Given the description of an element on the screen output the (x, y) to click on. 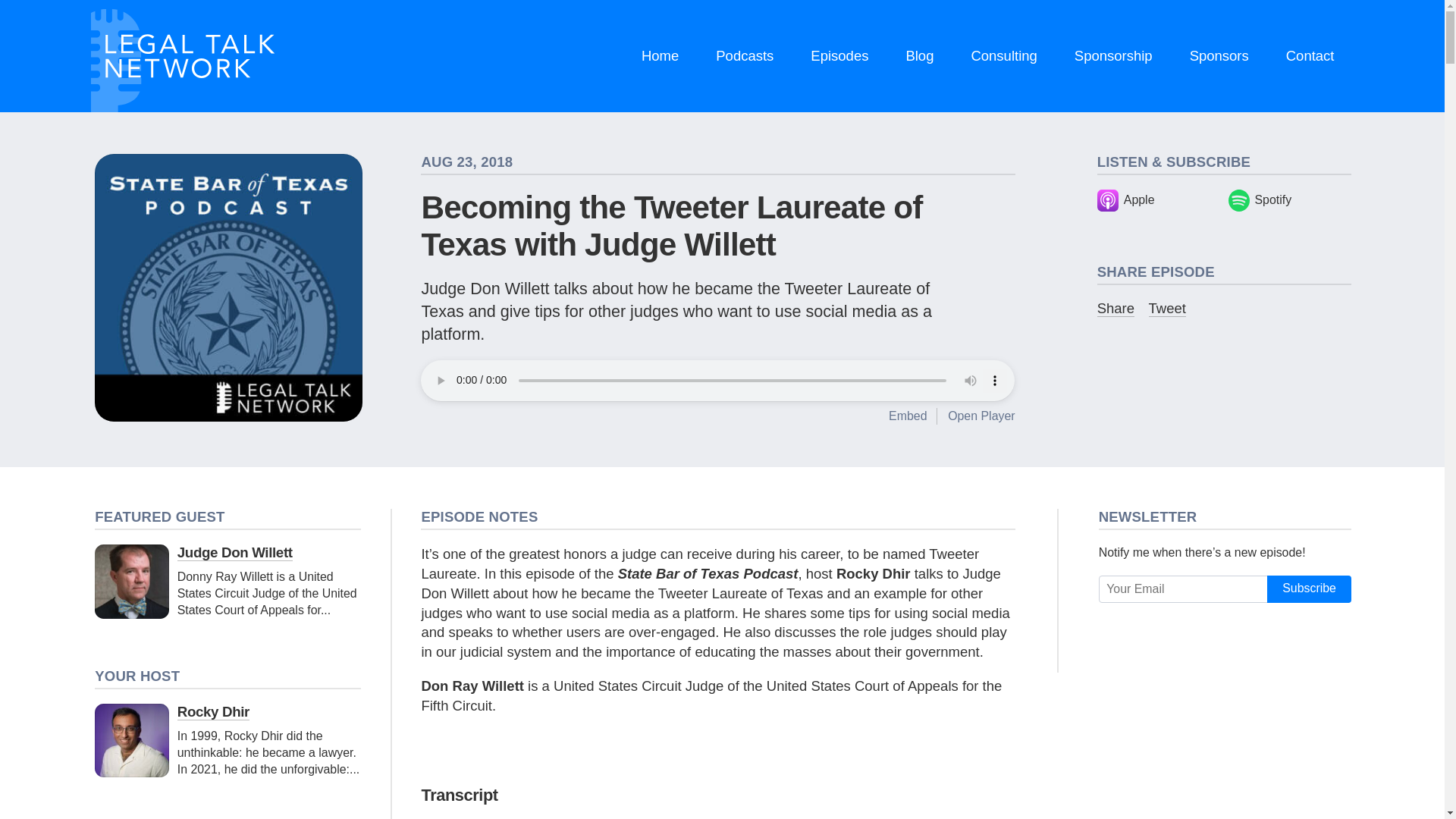
Open Player (980, 415)
Subscribe (1308, 588)
Consulting (1003, 56)
Rocky Dhir (212, 711)
Apple (1158, 200)
Judge Don Willett (234, 552)
Spotify (1289, 200)
State Bar of Texas Podcast (228, 287)
Embed (907, 415)
Sponsorship (1113, 56)
